Given the description of an element on the screen output the (x, y) to click on. 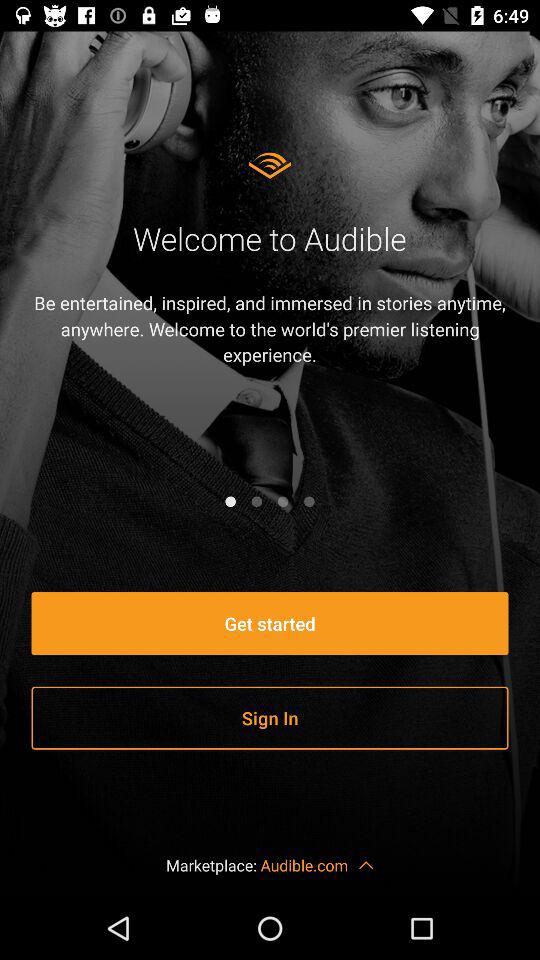
flip to sign in (269, 717)
